Given the description of an element on the screen output the (x, y) to click on. 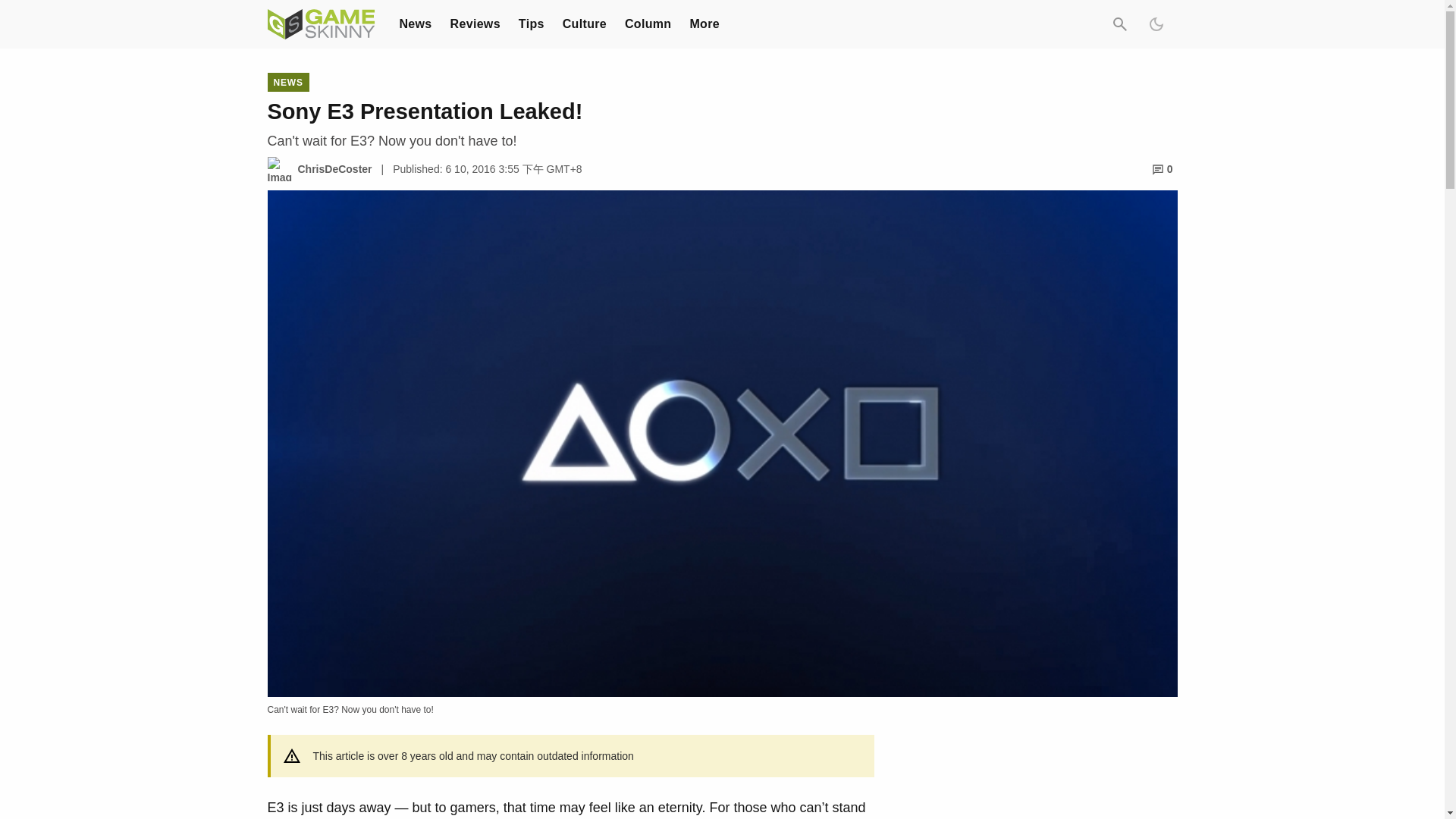
Reviews (474, 23)
Column (647, 23)
Culture (584, 23)
Tips (531, 23)
News (414, 23)
Search (1118, 24)
Dark Mode (1155, 24)
